Given the description of an element on the screen output the (x, y) to click on. 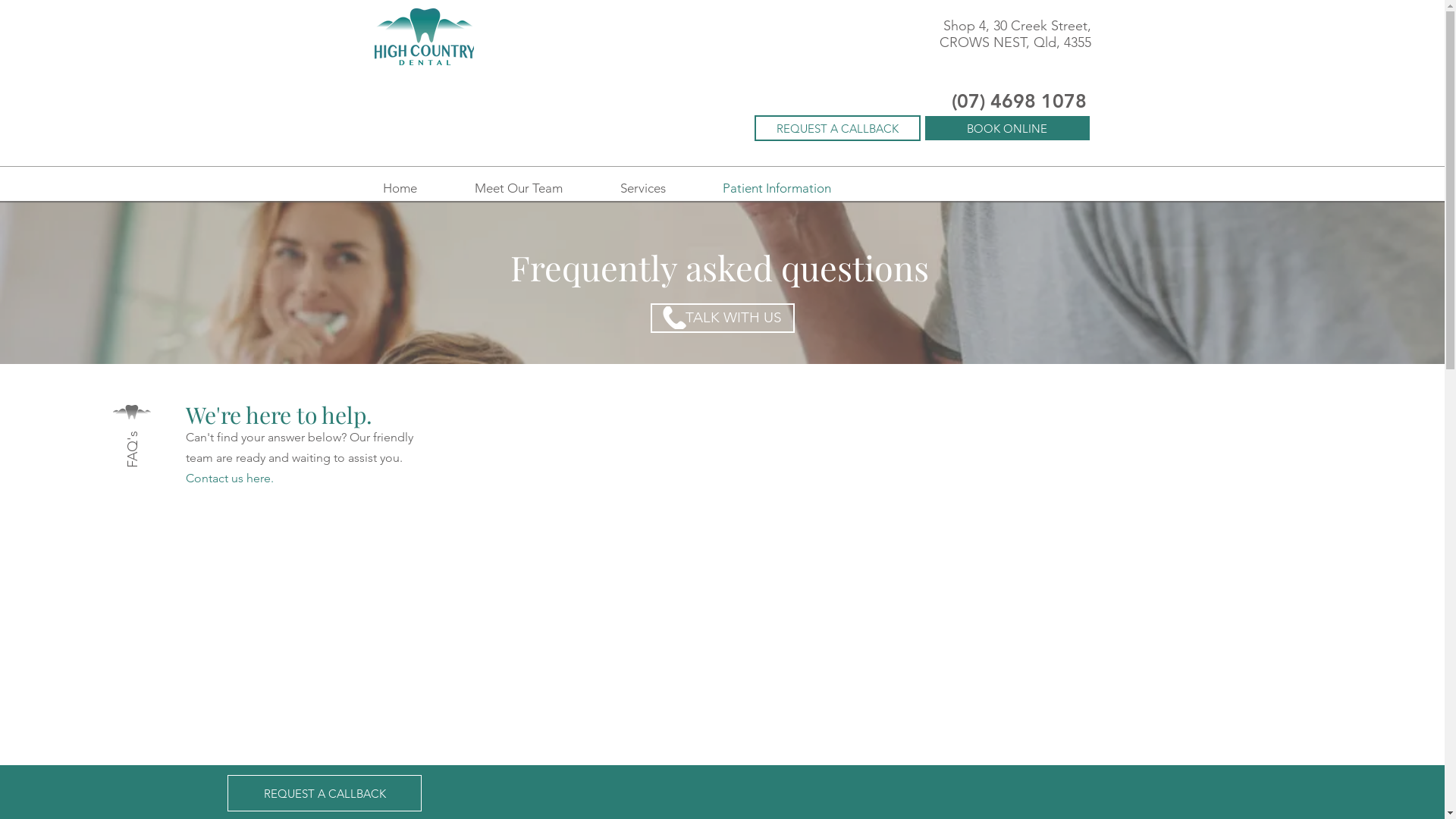
REQUEST A CALLBACK Element type: text (836, 128)
Home Element type: text (399, 187)
REQUEST A CALLBACK Element type: text (324, 793)
Contact us here. Element type: text (229, 477)
Meet Our Team Element type: text (518, 187)
BOOK ONLINE Element type: text (1006, 128)
TALK WITH US Element type: text (722, 317)
Services Element type: text (642, 187)
Patient Information Element type: text (776, 187)
(07) 4698 1078 Element type: text (1017, 100)
Facebook Like Element type: hover (469, 141)
